Given the description of an element on the screen output the (x, y) to click on. 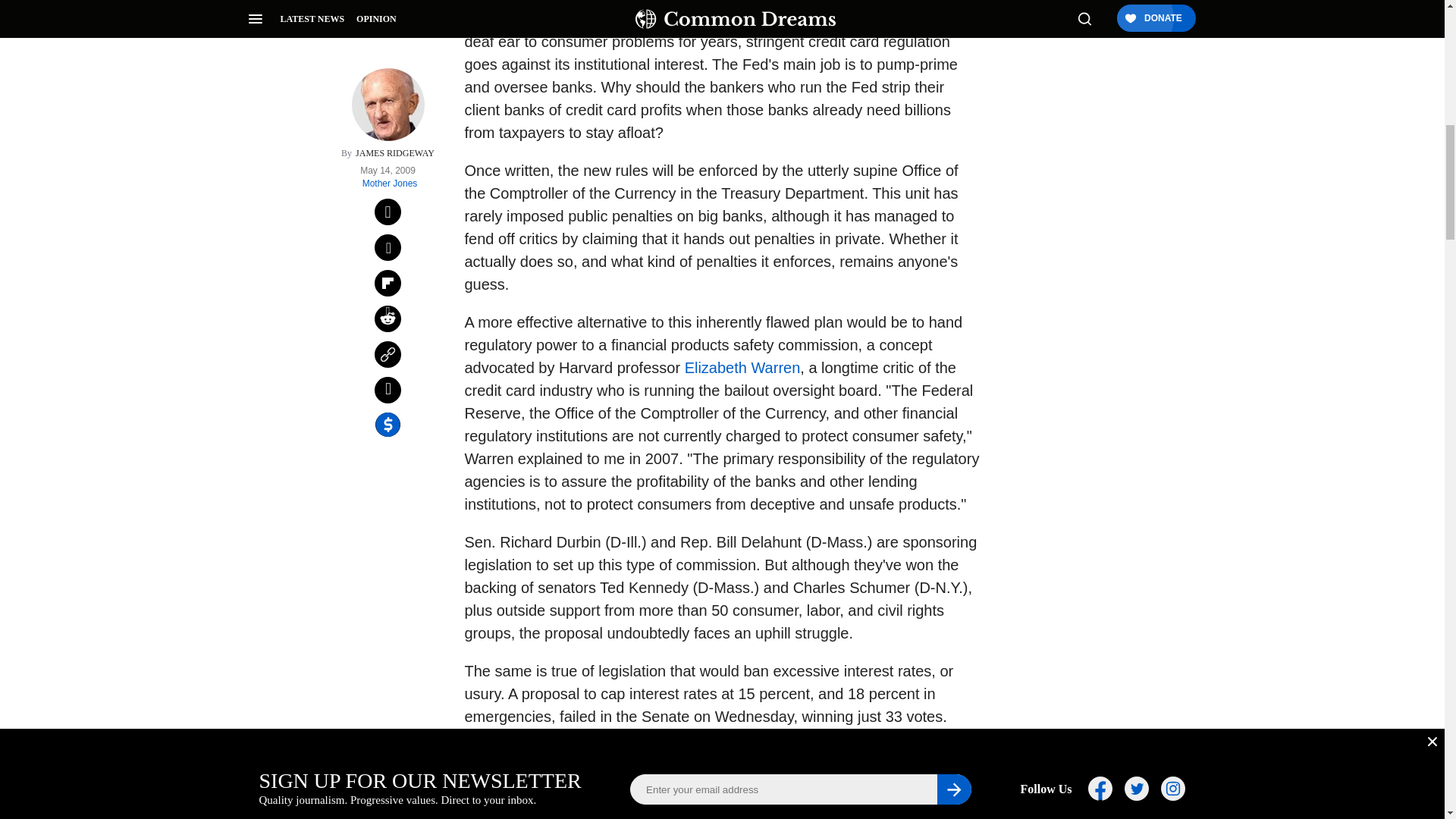
Donate Button (1051, 207)
